Given the description of an element on the screen output the (x, y) to click on. 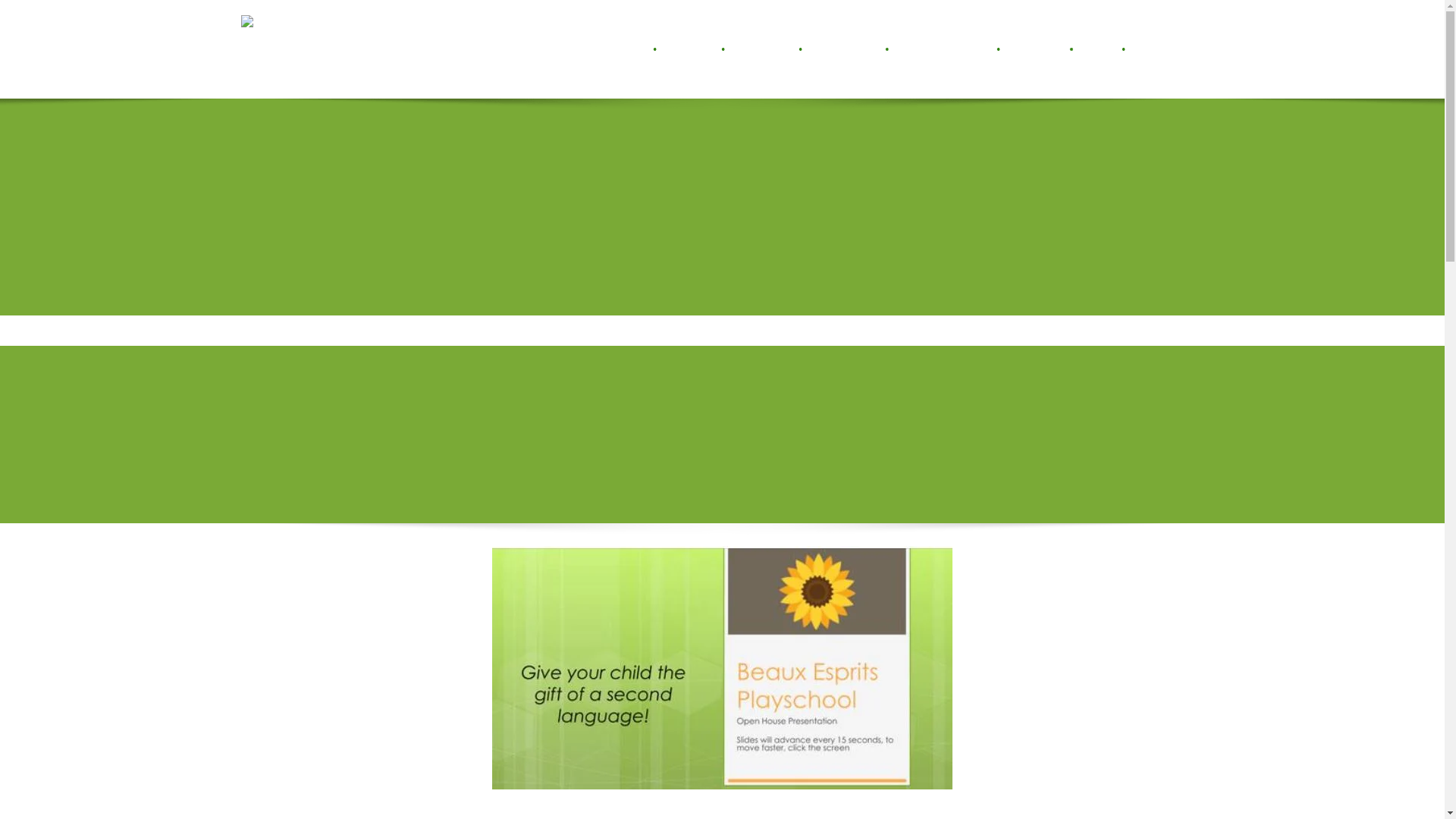
Go to site home page Element type: hover (434, 33)
Parental Involvement Element type: text (944, 49)
Go to site home page Element type: hover (275, 49)
Gallery Element type: text (1099, 49)
Program Info Element type: text (763, 49)
Home Element type: text (633, 49)
Registration Element type: text (1036, 49)
Philosophy Element type: text (690, 49)
Contact Us Element type: text (1154, 49)
School Policies Element type: text (845, 49)
